Given the description of an element on the screen output the (x, y) to click on. 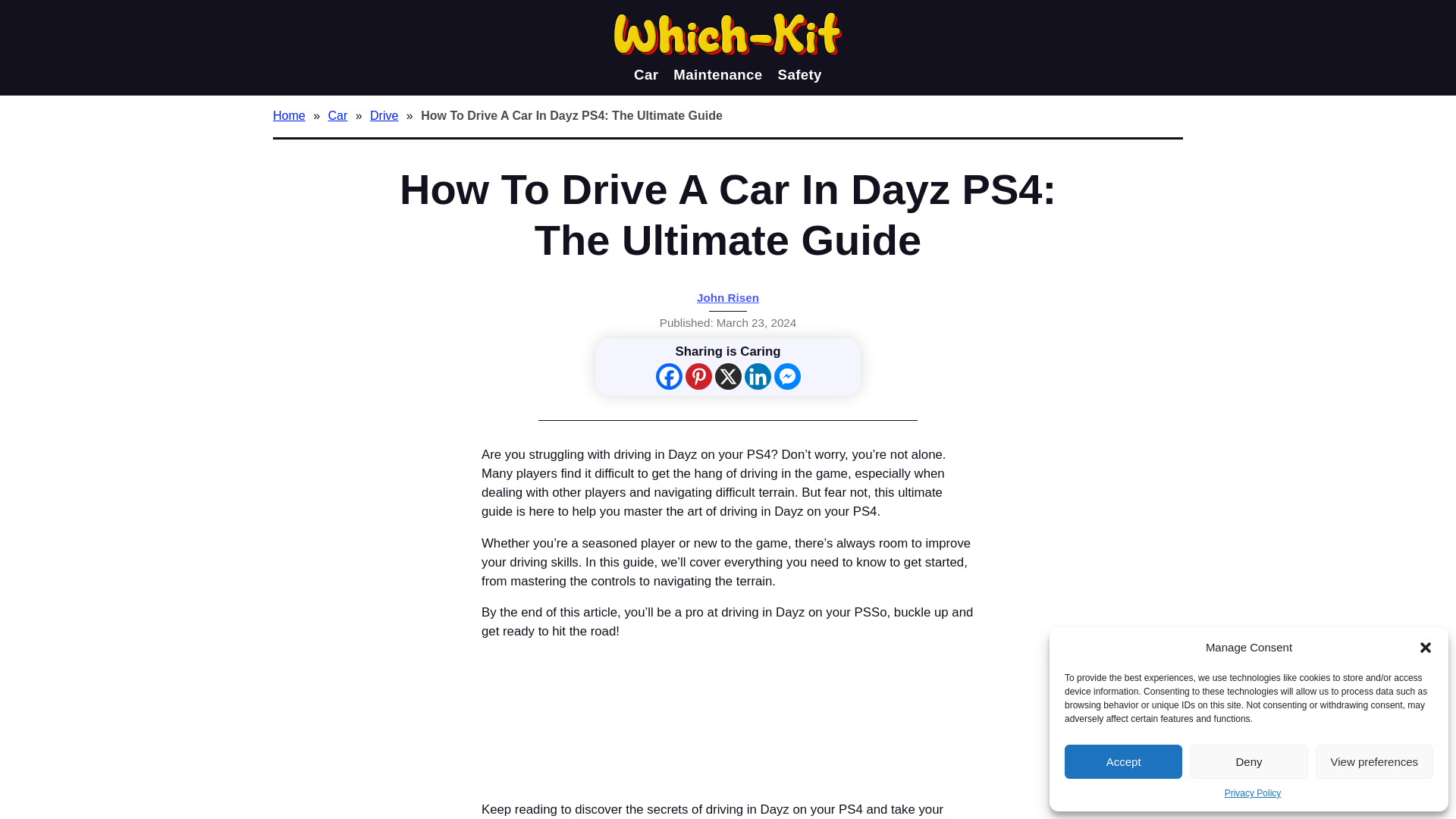
Accept (1123, 761)
Car (339, 115)
View preferences (1374, 761)
Advertisement (727, 715)
Safety (799, 74)
Maintenance (716, 74)
X (727, 376)
Home (291, 115)
Linkedin (757, 376)
Privacy Policy (1252, 793)
